Given the description of an element on the screen output the (x, y) to click on. 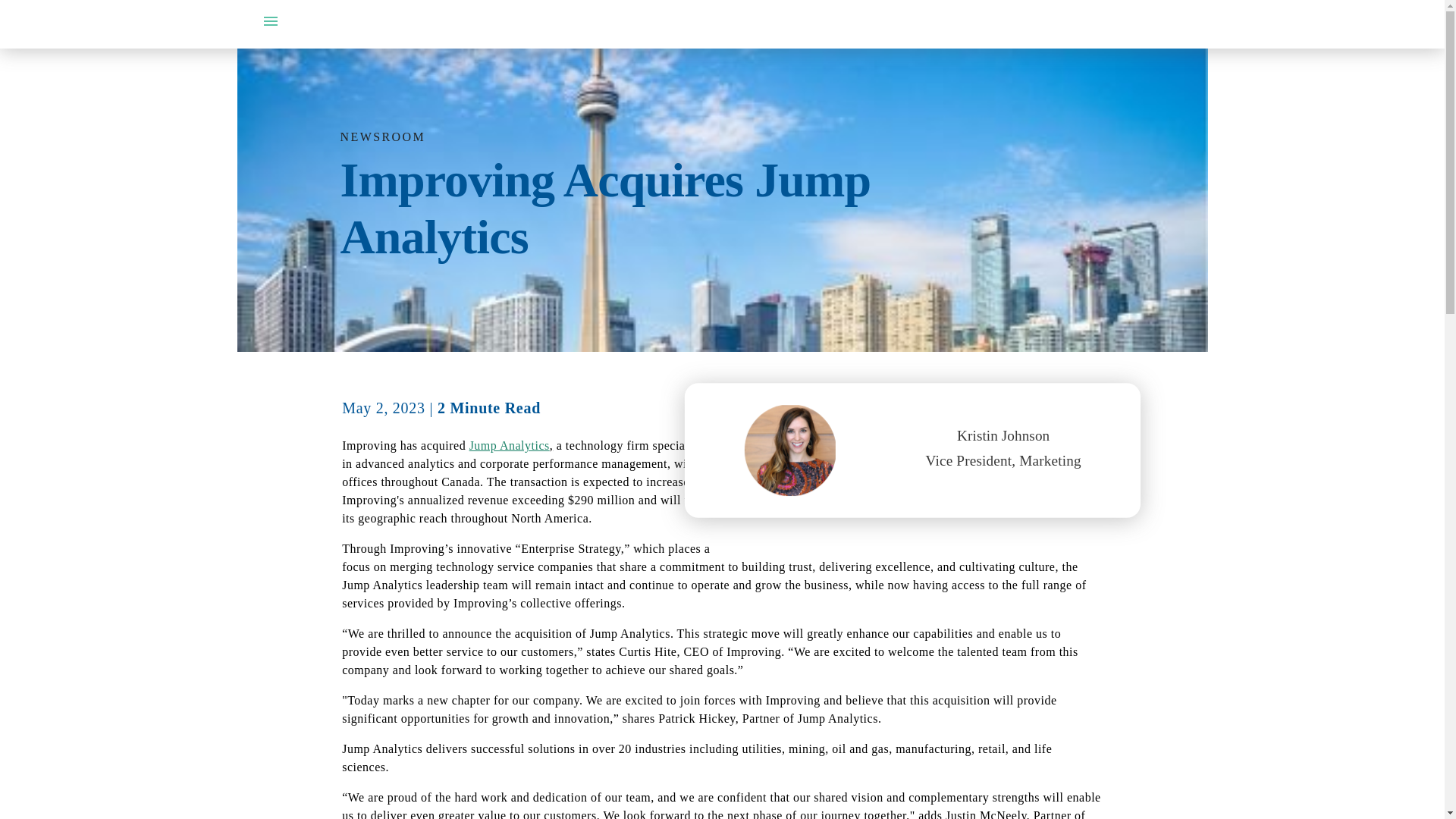
Vice President, Marketing (989, 459)
Jump Analytics (509, 445)
Kristin Johnson (989, 434)
